Given the description of an element on the screen output the (x, y) to click on. 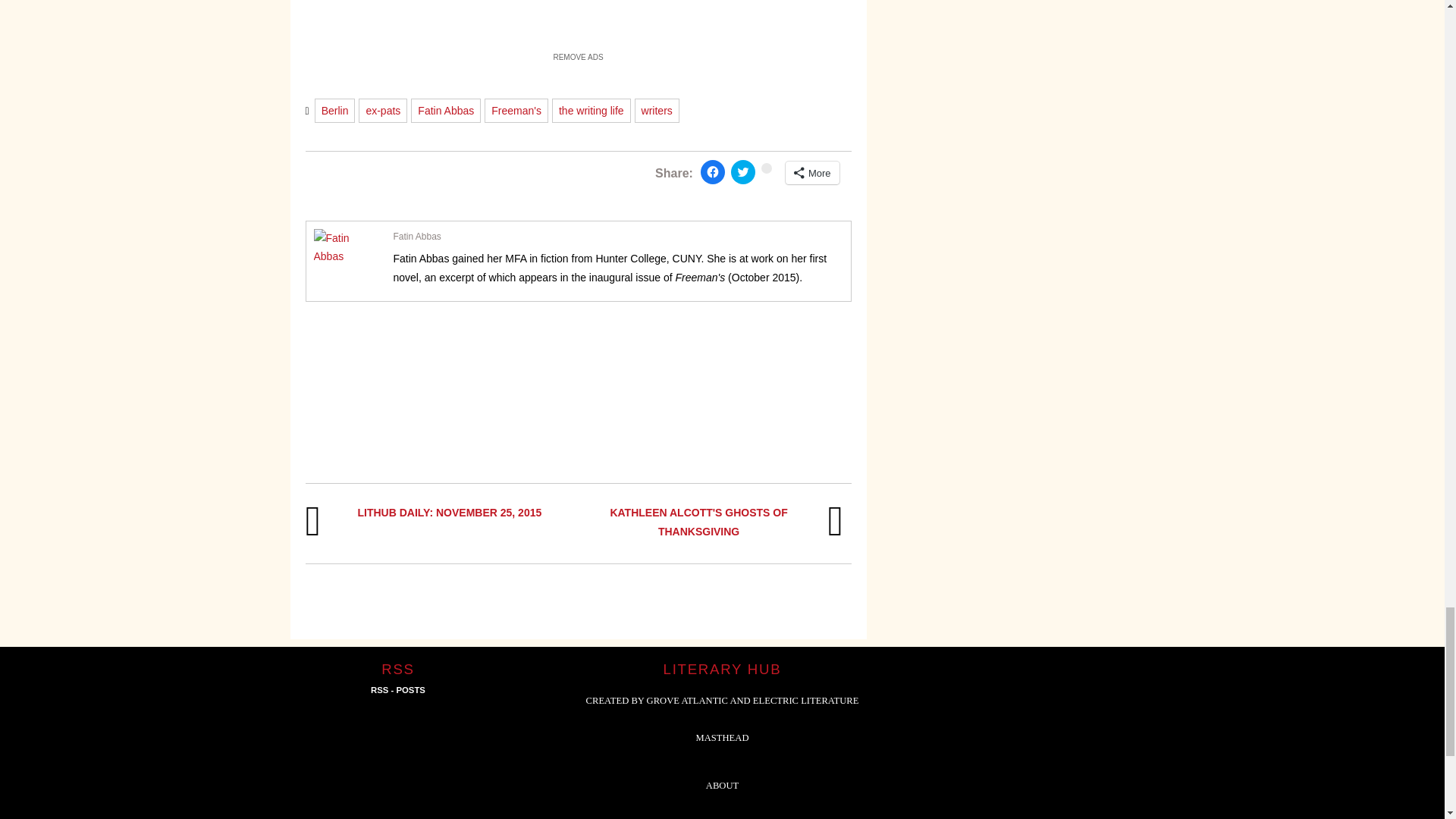
Click to share on Twitter (742, 171)
Share on Facebook (712, 171)
